Given the description of an element on the screen output the (x, y) to click on. 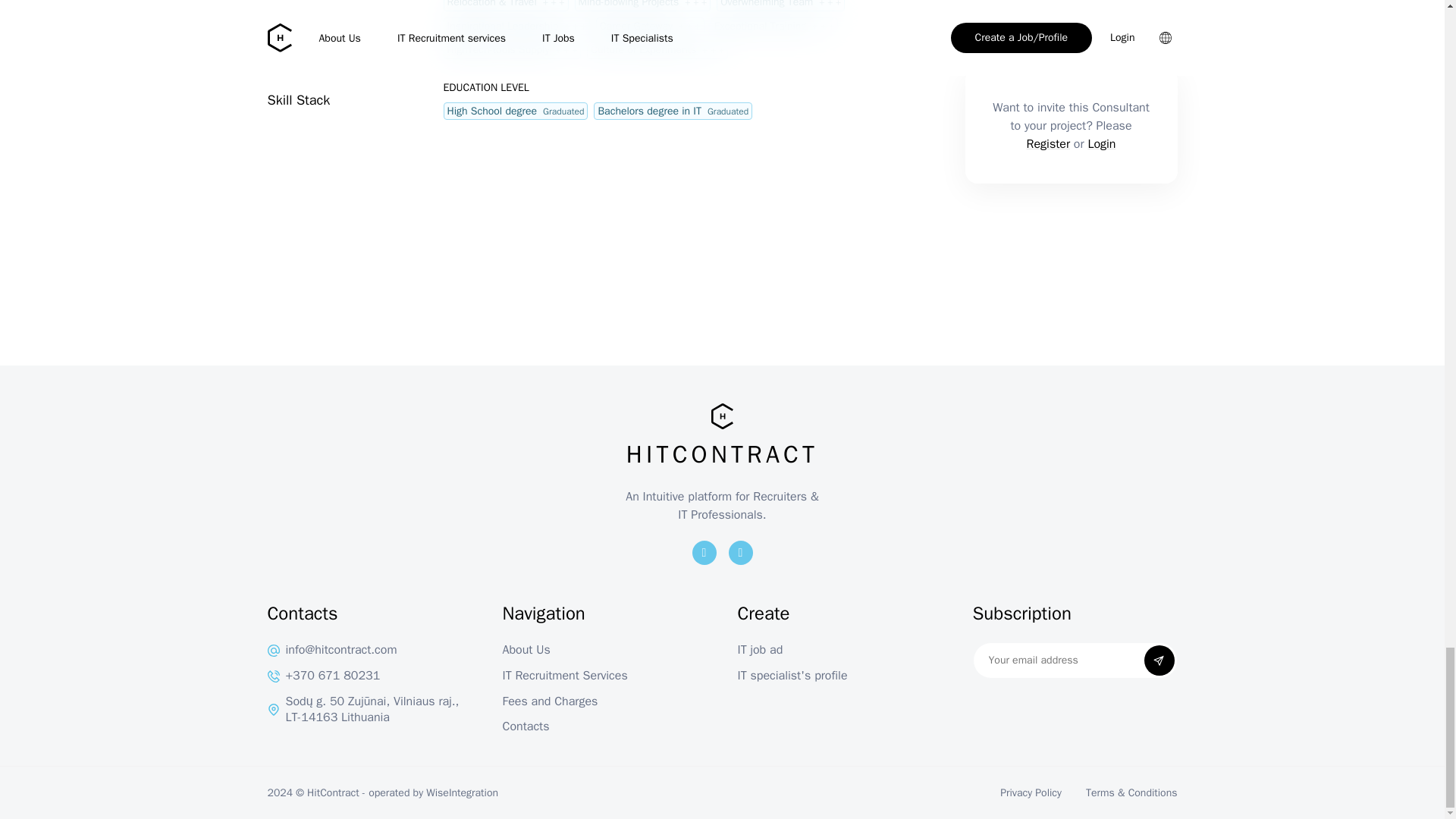
IT Recruitment Services (604, 676)
IT specialist's profile (839, 676)
Subscribe (1157, 660)
Privacy Policy (1030, 792)
Fees and Charges (604, 701)
IT job ad (839, 650)
Contacts (604, 727)
WiseIntegration (461, 792)
About Us (604, 650)
